Given the description of an element on the screen output the (x, y) to click on. 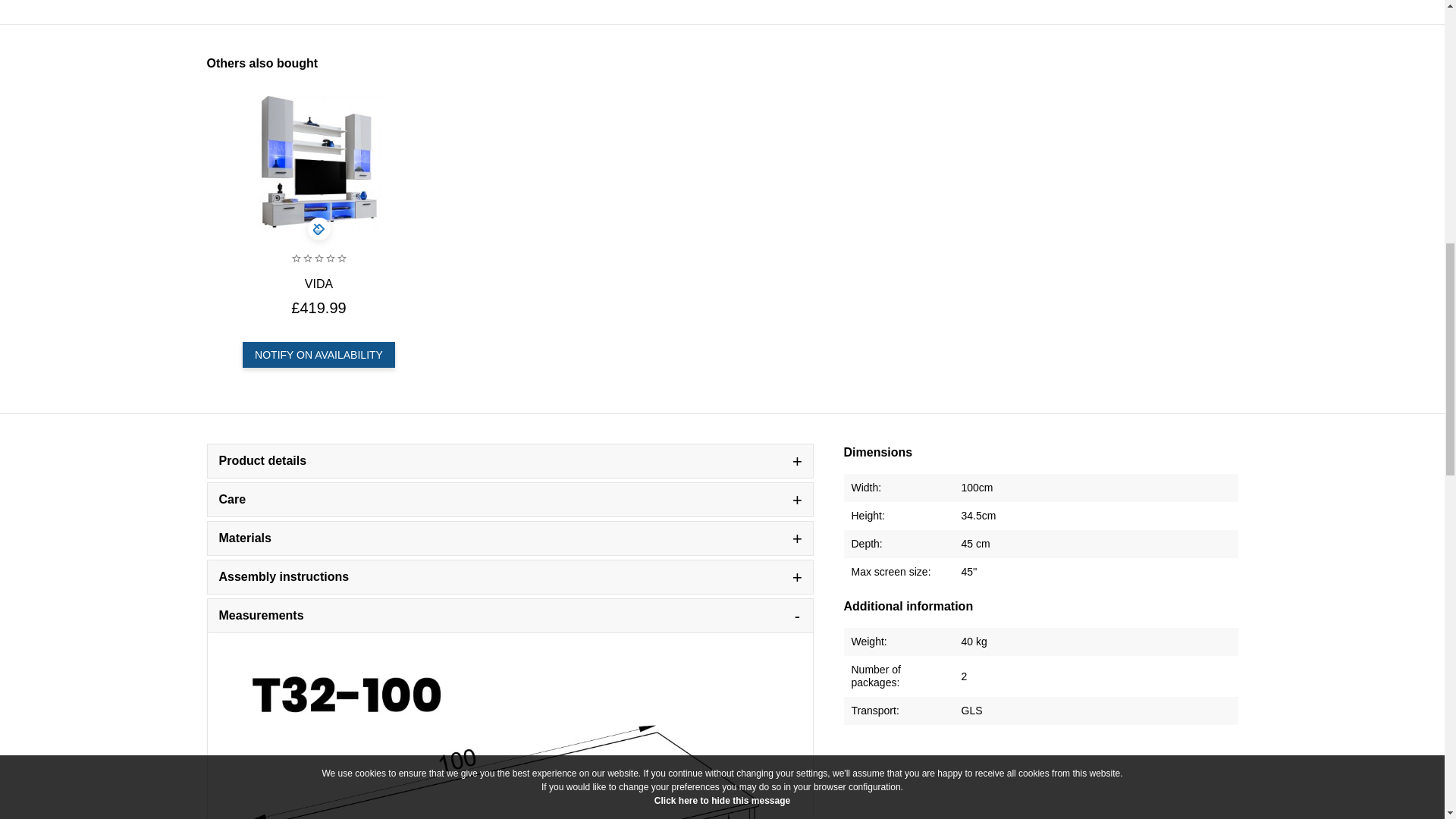
Vida (317, 162)
45'' (968, 571)
VIDA (318, 283)
100cm (976, 487)
